Given the description of an element on the screen output the (x, y) to click on. 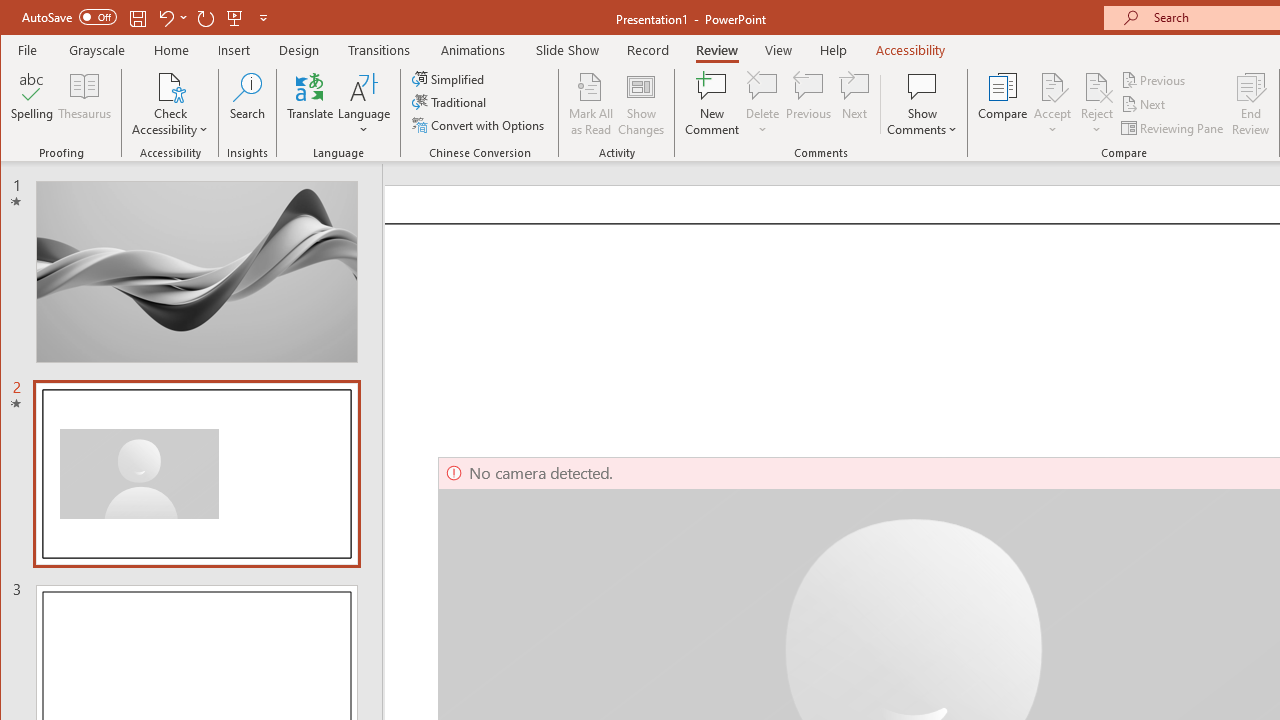
Show Changes (640, 104)
Translate (310, 104)
Thesaurus... (84, 104)
Previous (1154, 80)
